Given the description of an element on the screen output the (x, y) to click on. 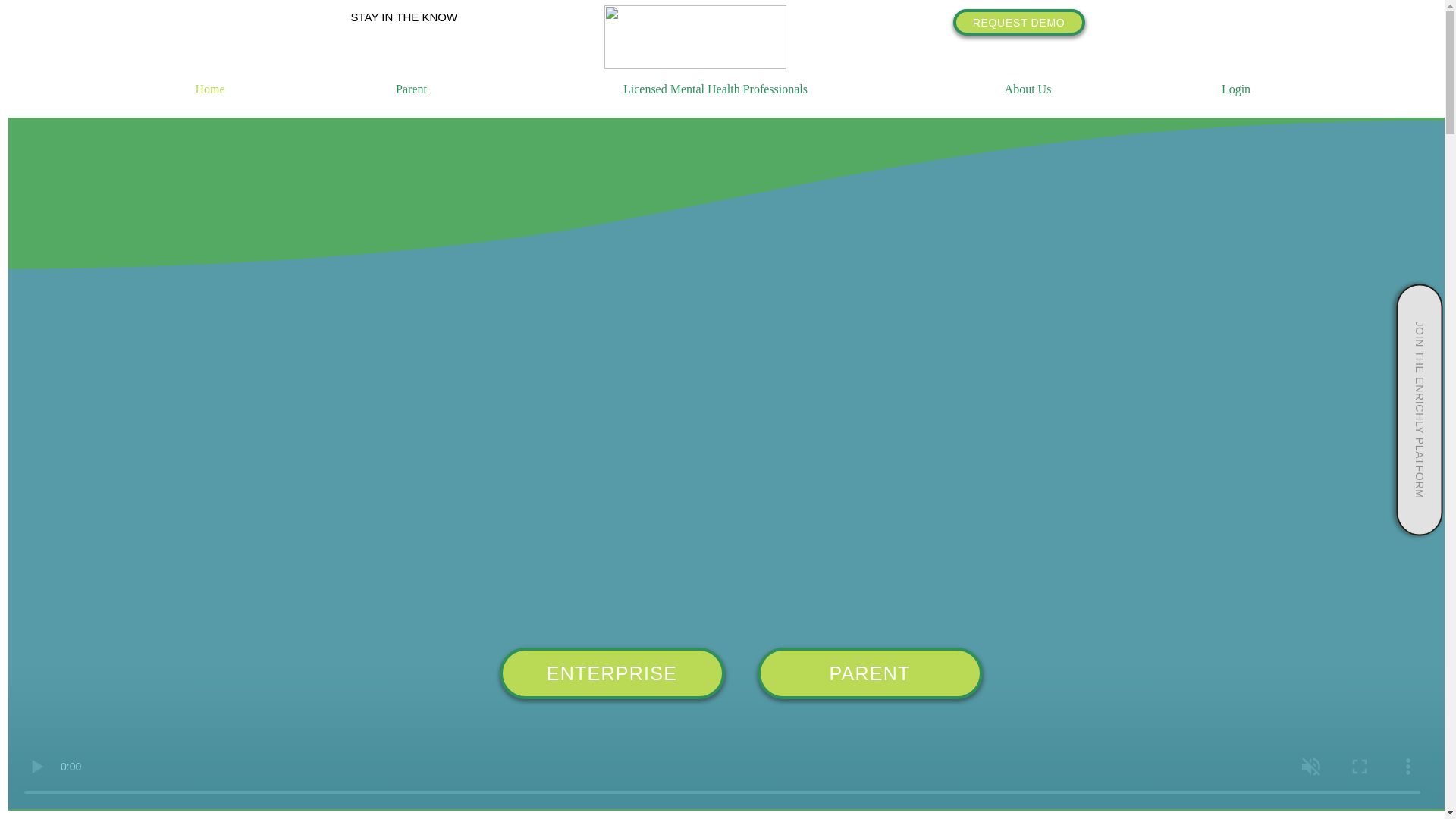
PARENT (869, 673)
Home (209, 89)
REQUEST DEMO (1018, 22)
Parent (410, 89)
Licensed Mental Health Professionals (715, 89)
ENTERPRISE (611, 673)
